Given the description of an element on the screen output the (x, y) to click on. 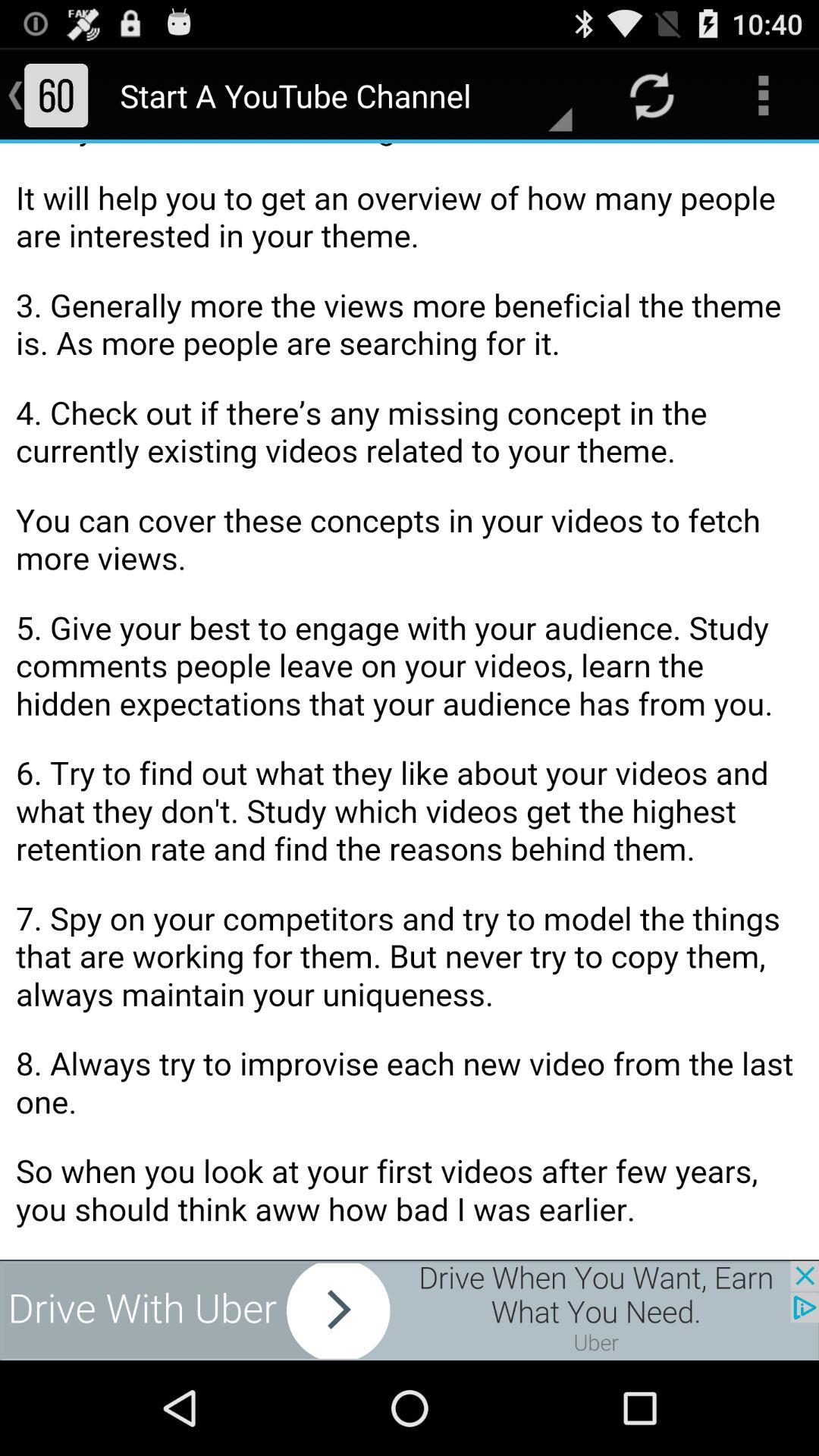
go to the advertised site (409, 1310)
